Given the description of an element on the screen output the (x, y) to click on. 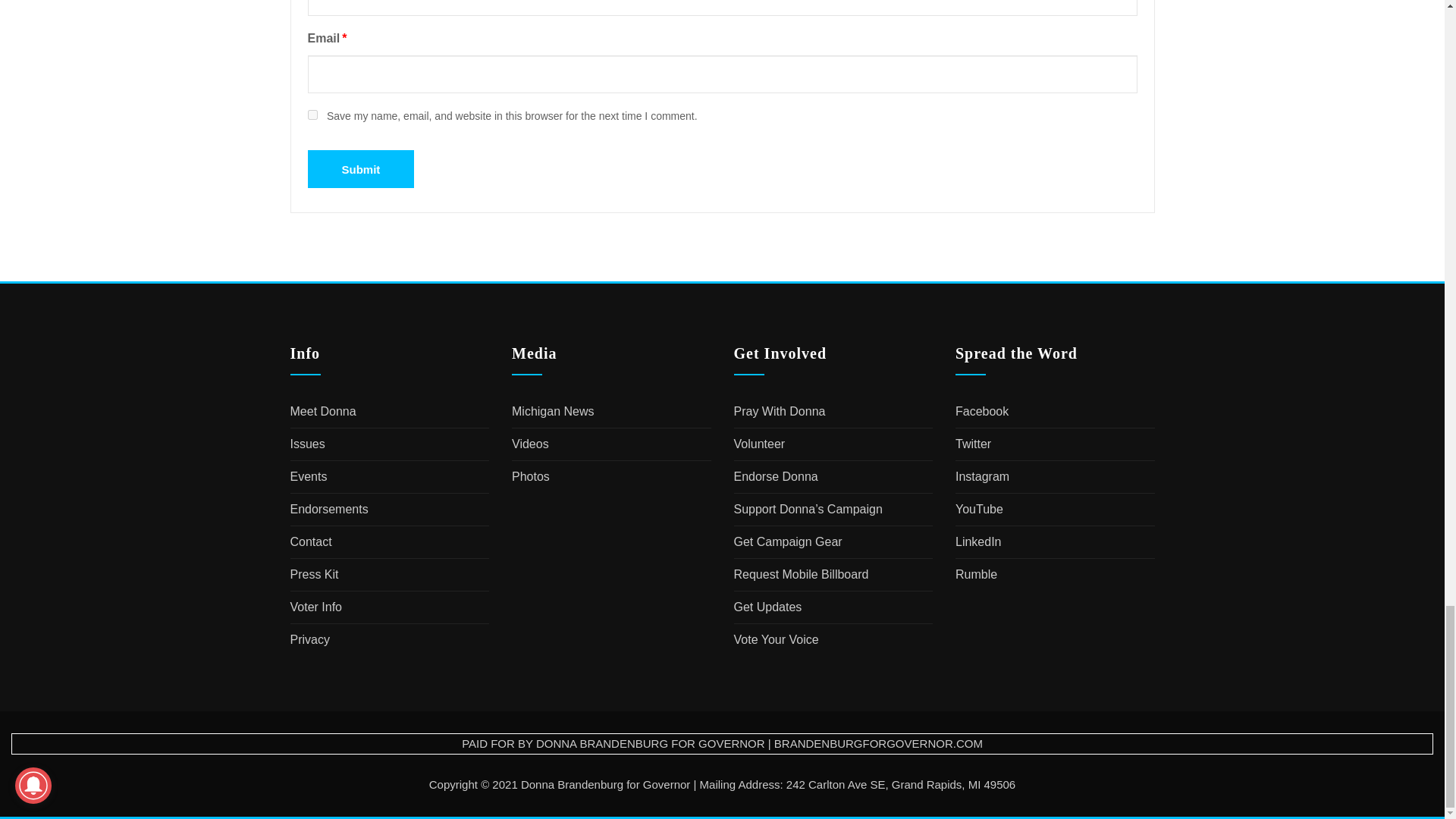
Contact (310, 541)
Events (307, 476)
Submit (360, 168)
yes (312, 114)
Issues (306, 443)
Submit (360, 168)
Endorsements (328, 508)
Meet Donna (322, 410)
Press Kit (313, 574)
Privacy (309, 639)
